Given the description of an element on the screen output the (x, y) to click on. 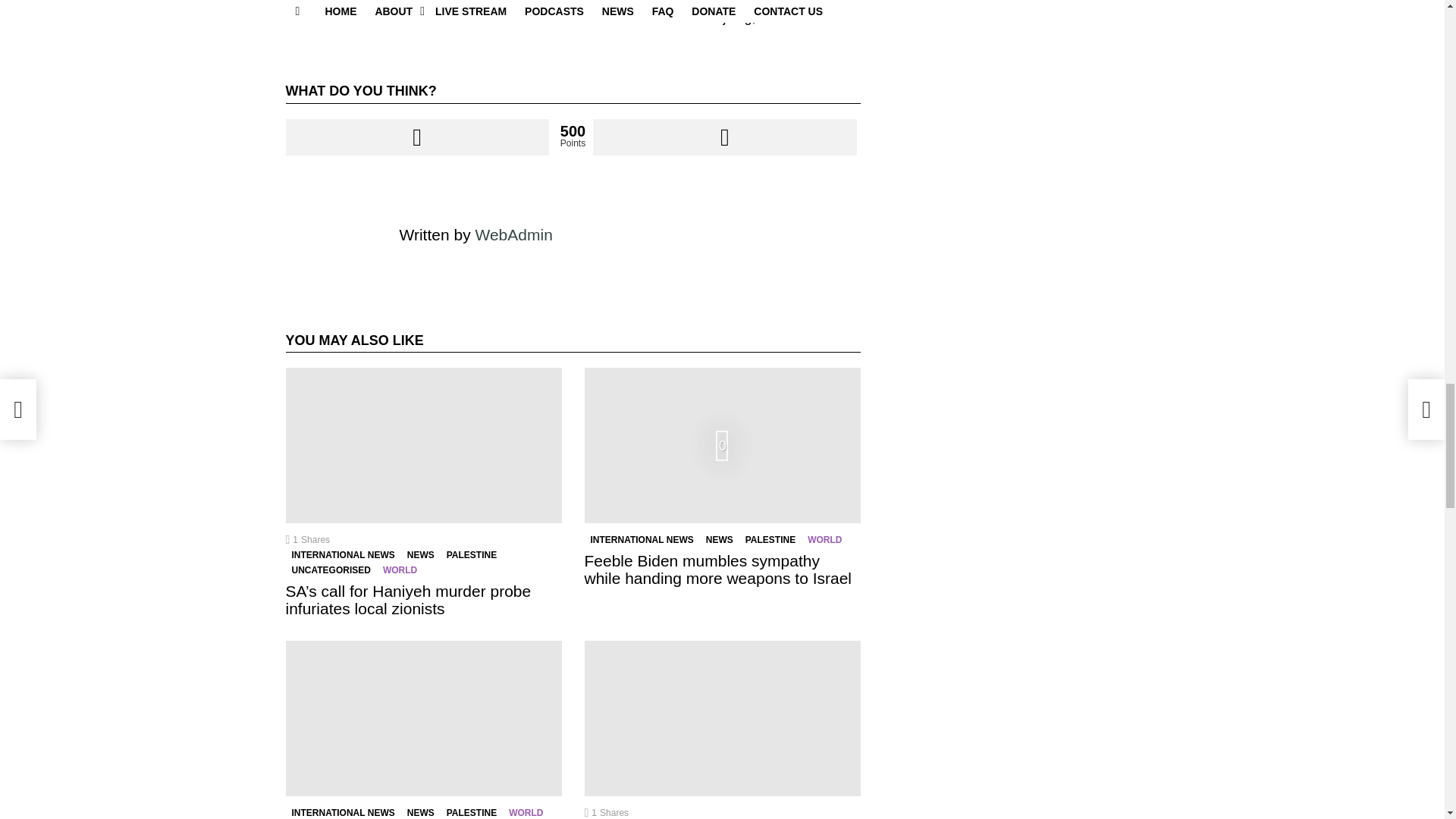
Upvote (416, 136)
PALESTINE (471, 554)
UNCATEGORISED (330, 570)
Downvote (724, 136)
NEWS (421, 554)
INTERNATIONAL NEWS (342, 554)
WebAdmin (512, 234)
